Given the description of an element on the screen output the (x, y) to click on. 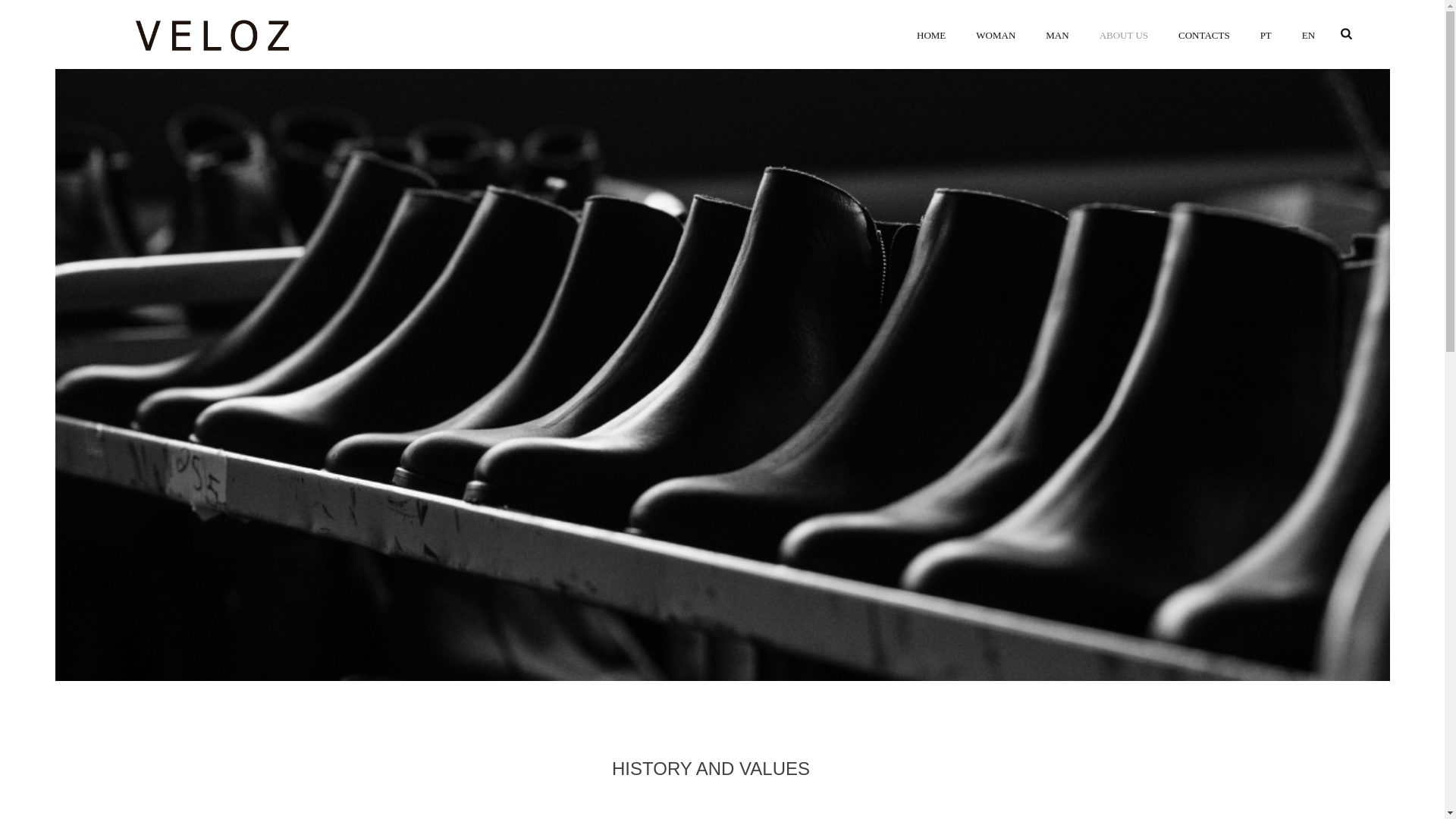
CONTACTS (1203, 33)
CONTACTS (1203, 33)
WOMAN (995, 33)
ABOUT US (1123, 33)
WOMAN (995, 33)
ABOUT US (1123, 33)
